Given the description of an element on the screen output the (x, y) to click on. 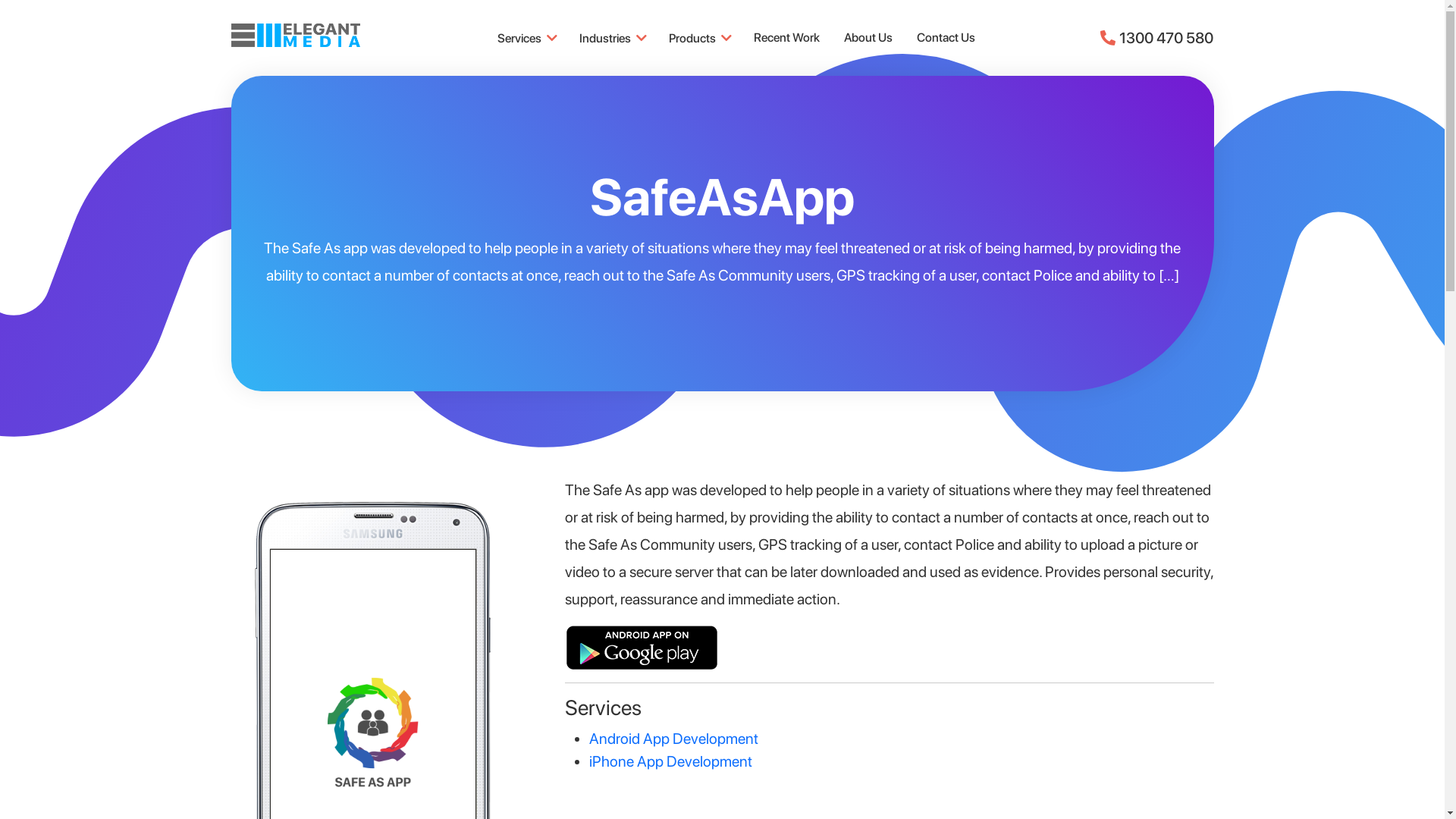
1300 470 580 Element type: text (1156, 37)
Android App Development Element type: text (672, 738)
Recent Work Element type: text (786, 37)
iPhone App Development Element type: text (669, 761)
Products Element type: text (698, 37)
Contact Us Element type: text (945, 37)
Services Element type: text (526, 37)
About Us Element type: text (867, 37)
Industries Element type: text (611, 37)
